Given the description of an element on the screen output the (x, y) to click on. 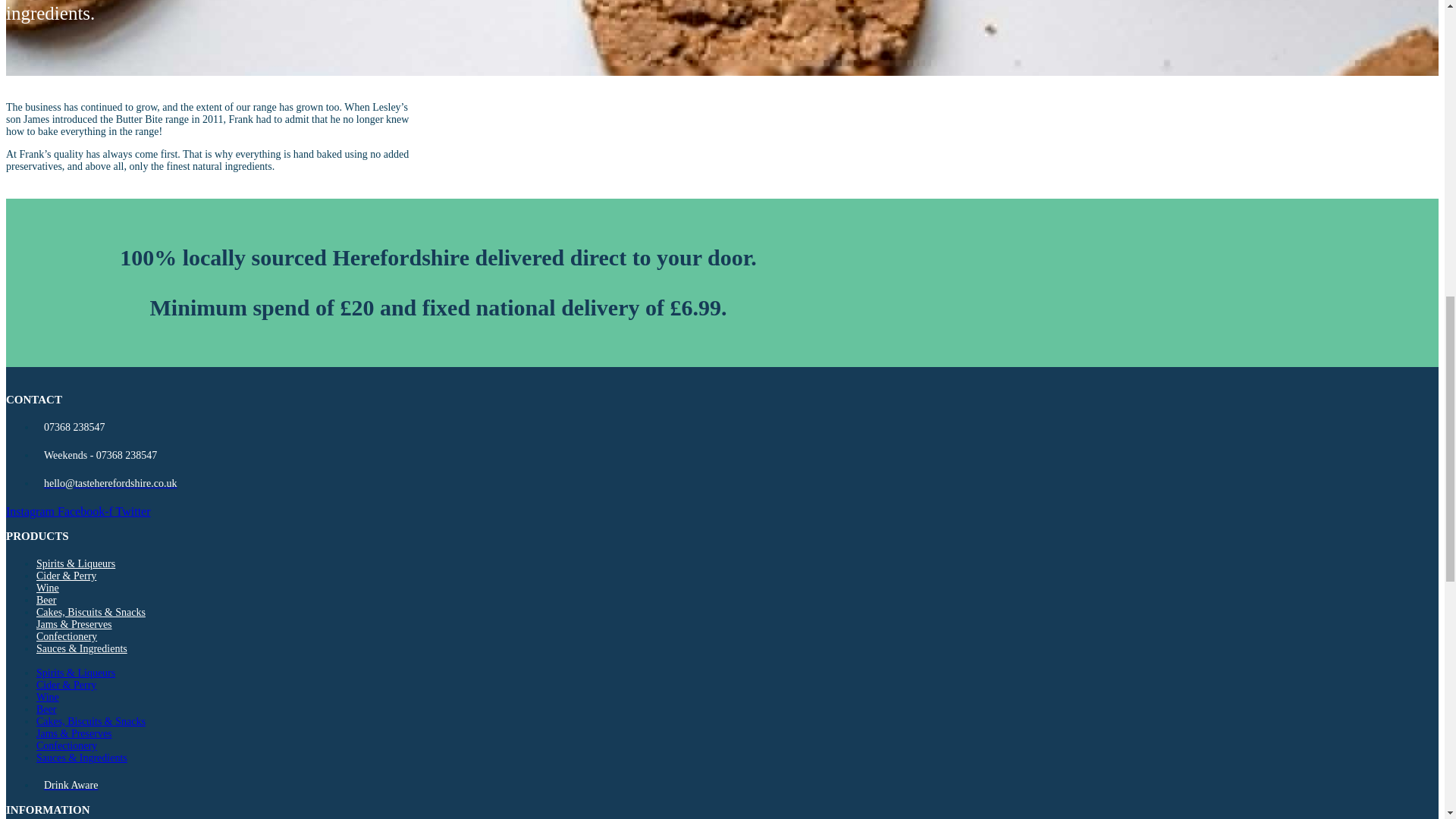
Beer (46, 599)
Wine (47, 587)
Wine (47, 696)
Twitter (133, 511)
Facebook-f (87, 511)
Confectionery (66, 636)
Instagram (31, 511)
Beer (46, 708)
